Given the description of an element on the screen output the (x, y) to click on. 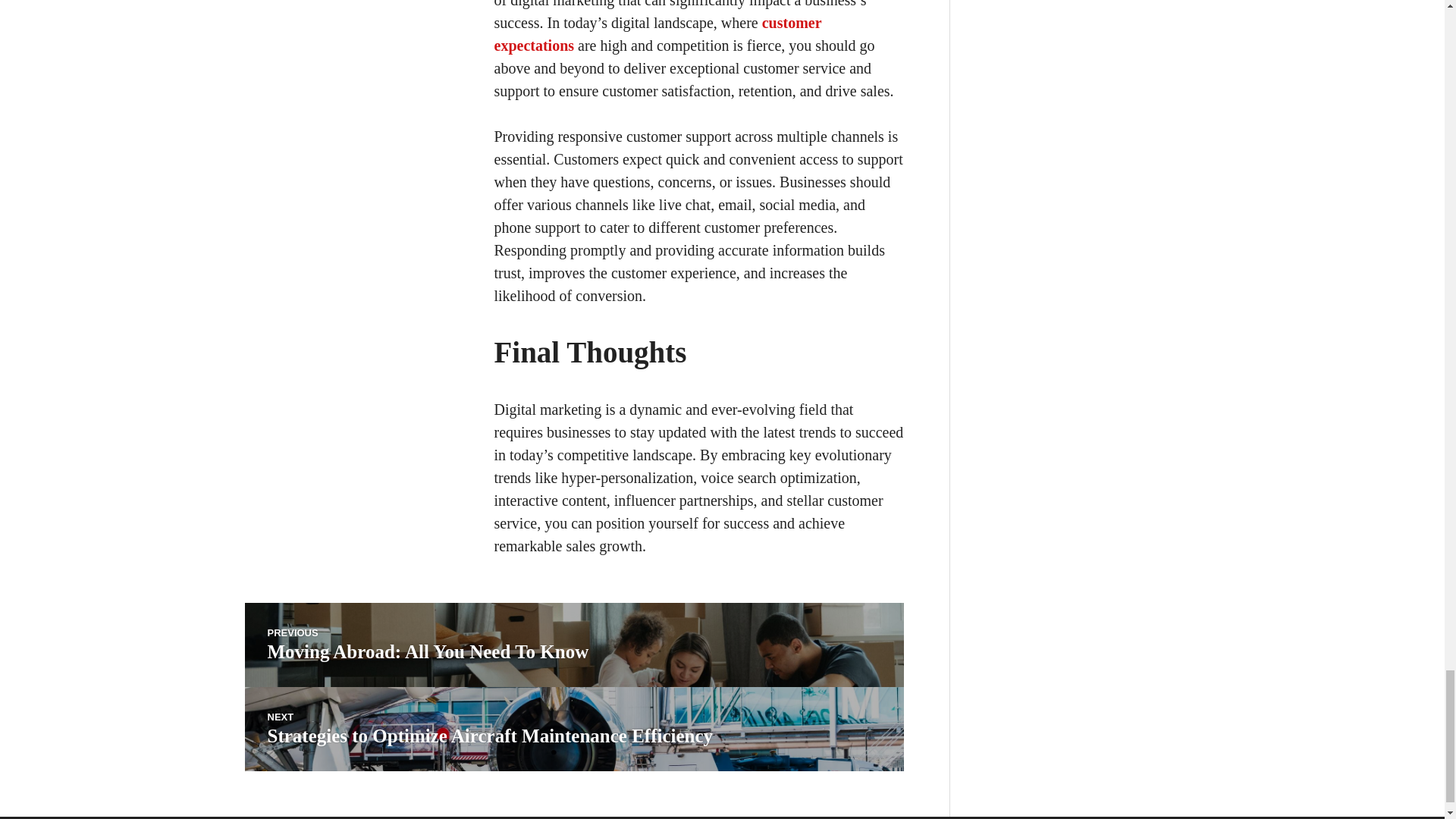
customer expectations (573, 644)
